Given the description of an element on the screen output the (x, y) to click on. 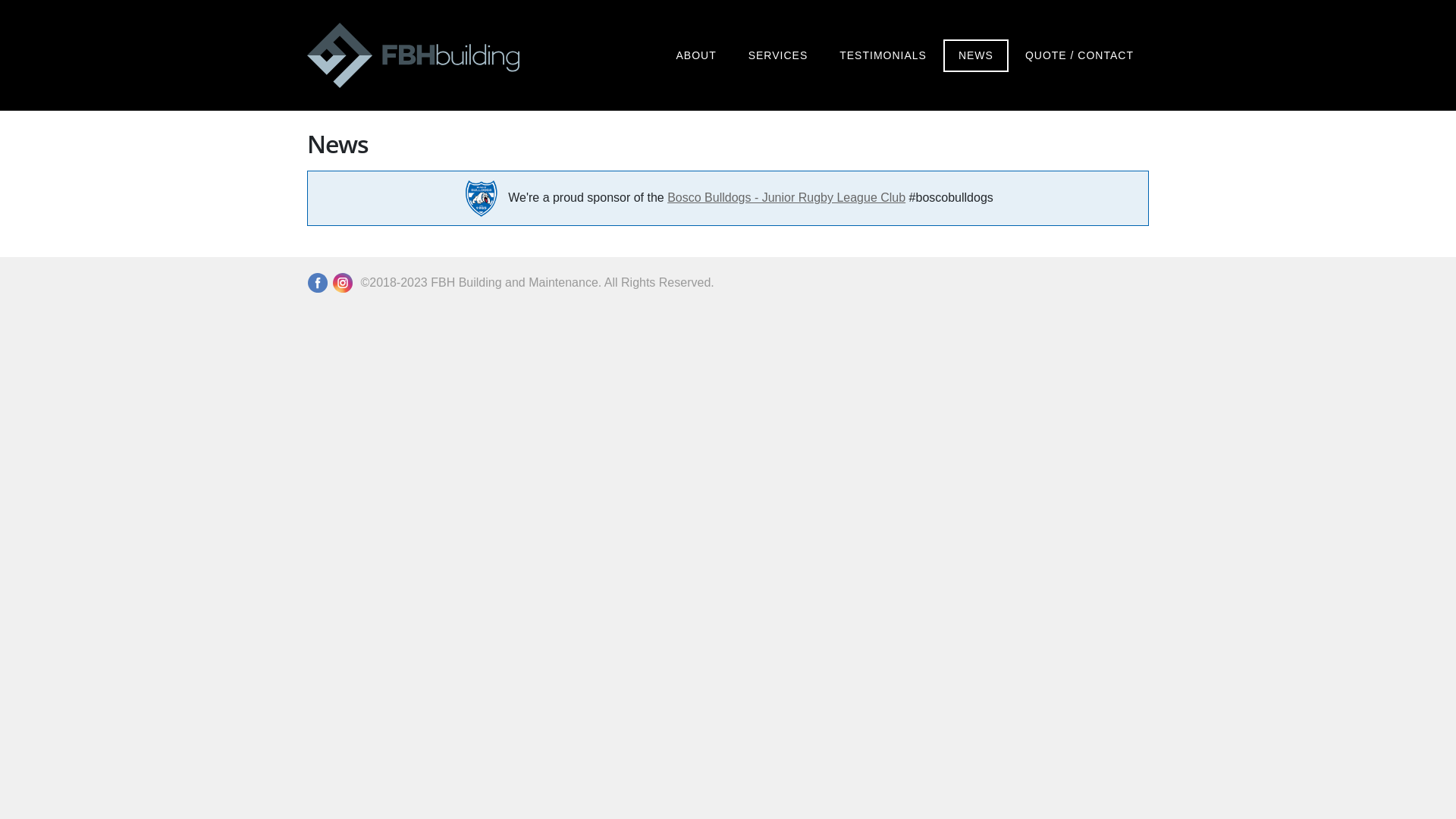
ABOUT Element type: text (695, 55)
TESTIMONIALS Element type: text (882, 55)
QUOTE / CONTACT Element type: text (1079, 55)
SERVICES Element type: text (778, 55)
Bosco Bulldogs - Junior Rugby League Club Element type: text (786, 197)
NEWS Element type: text (975, 55)
